Given the description of an element on the screen output the (x, y) to click on. 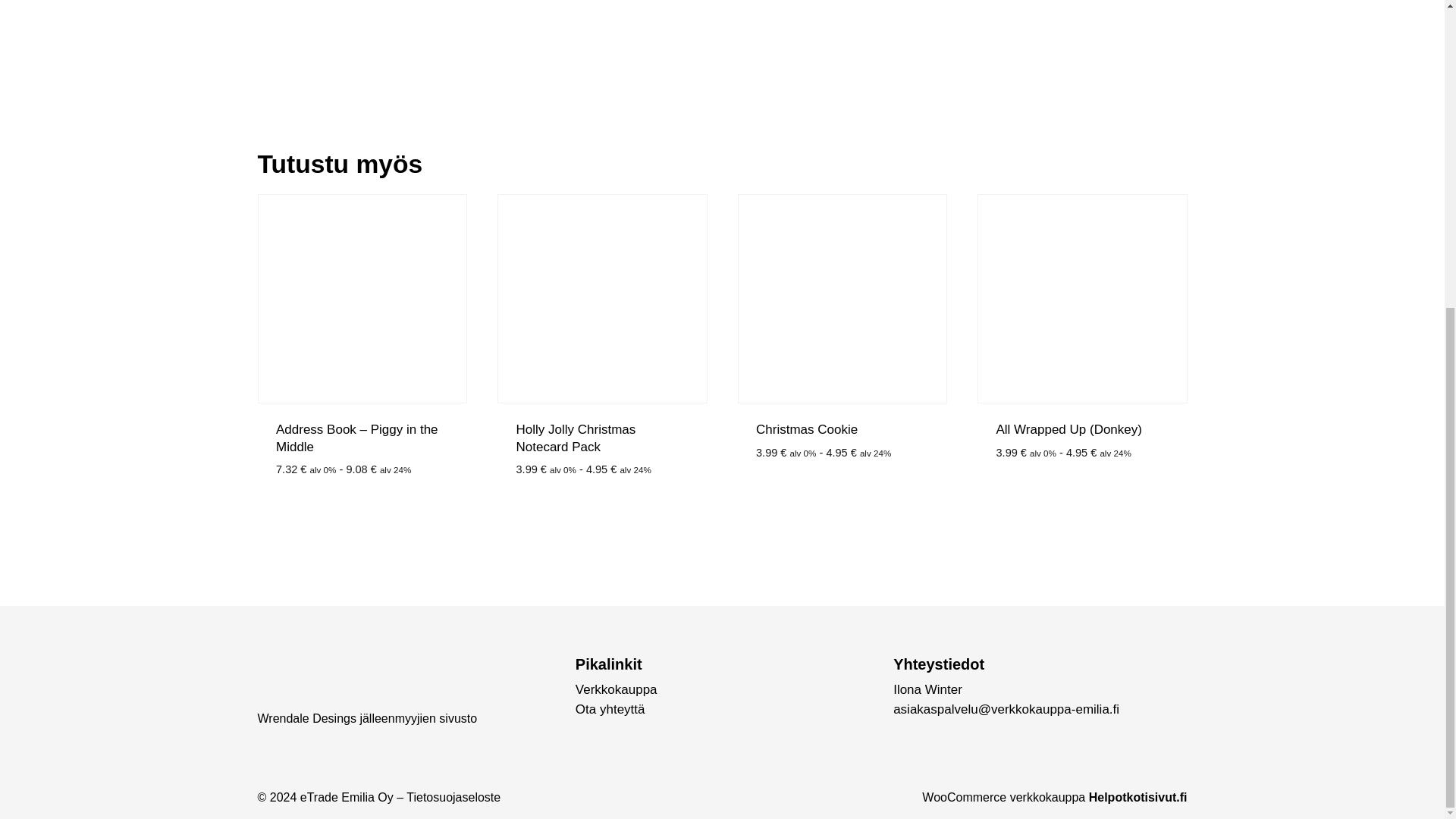
Tietosuojaseloste (453, 797)
Christmas Cookie (806, 429)
Holly Jolly Christmas Notecard Pack (574, 437)
WooCommerce verkkokauppa Helpotkotisivut.fi (1053, 797)
Verkkokauppa (616, 689)
